Given the description of an element on the screen output the (x, y) to click on. 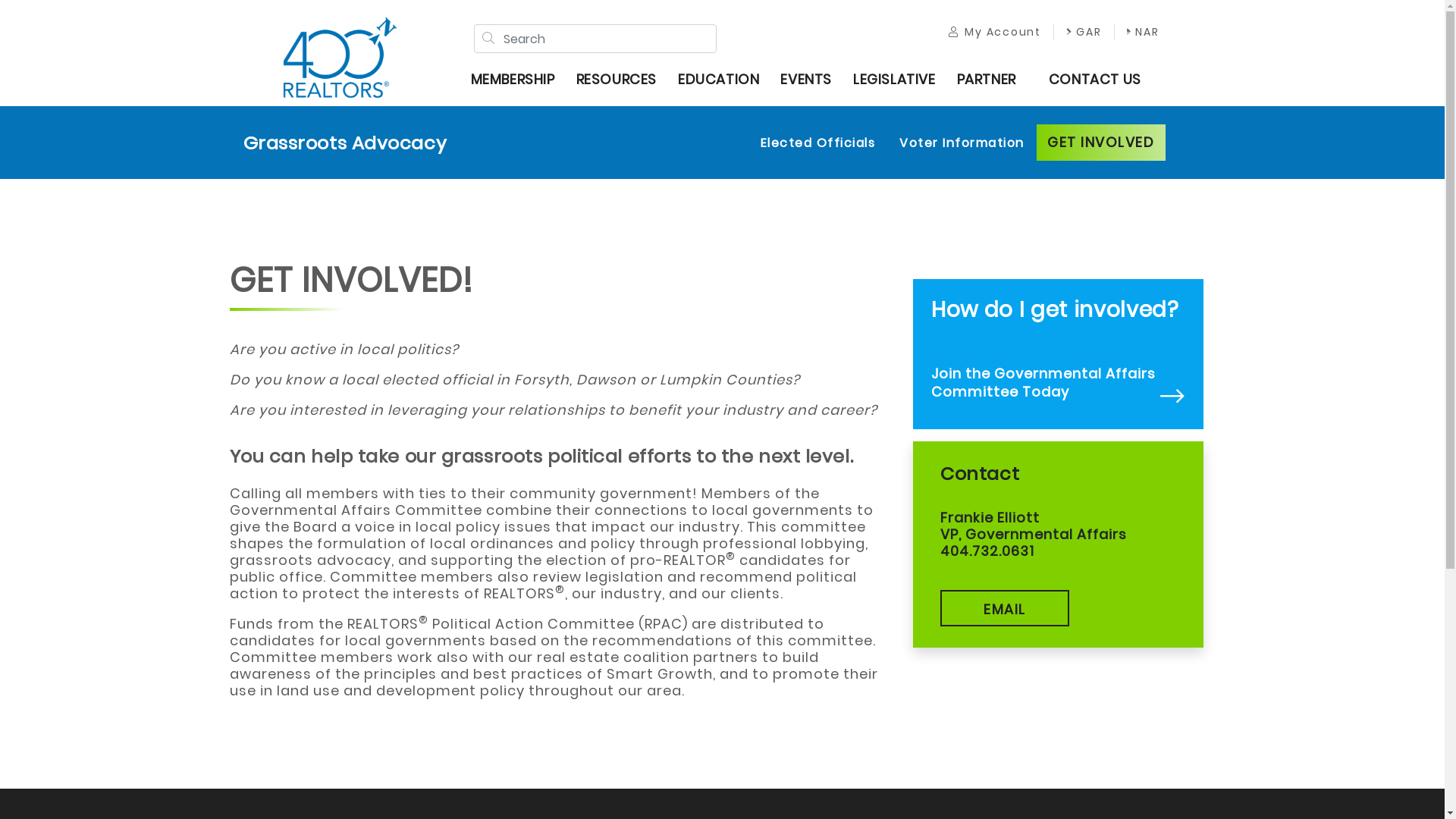
LEGISLATIVE Element type: text (901, 79)
GET INVOLVED Element type: text (1099, 142)
PARTNER Element type: text (993, 79)
 GAR Element type: text (1083, 32)
My Account Element type: text (994, 32)
Open image in original size Element type: hover (340, 53)
Grassroots Advocacy Element type: text (344, 141)
EMAIL Element type: text (1004, 607)
EVENTS Element type: text (813, 79)
EDUCATION Element type: text (725, 79)
MEMBERSHIP Element type: text (519, 79)
 NAR Element type: text (1142, 32)
RESOURCES Element type: text (623, 79)
Voter Information Element type: text (961, 141)
Elected Officials Element type: text (817, 141)
Search input Element type: hover (594, 38)
Join the Governmental Affairs Committee Today Element type: text (1043, 382)
logo Element type: hover (339, 57)
CONTACT US Element type: text (1102, 79)
